Given the description of an element on the screen output the (x, y) to click on. 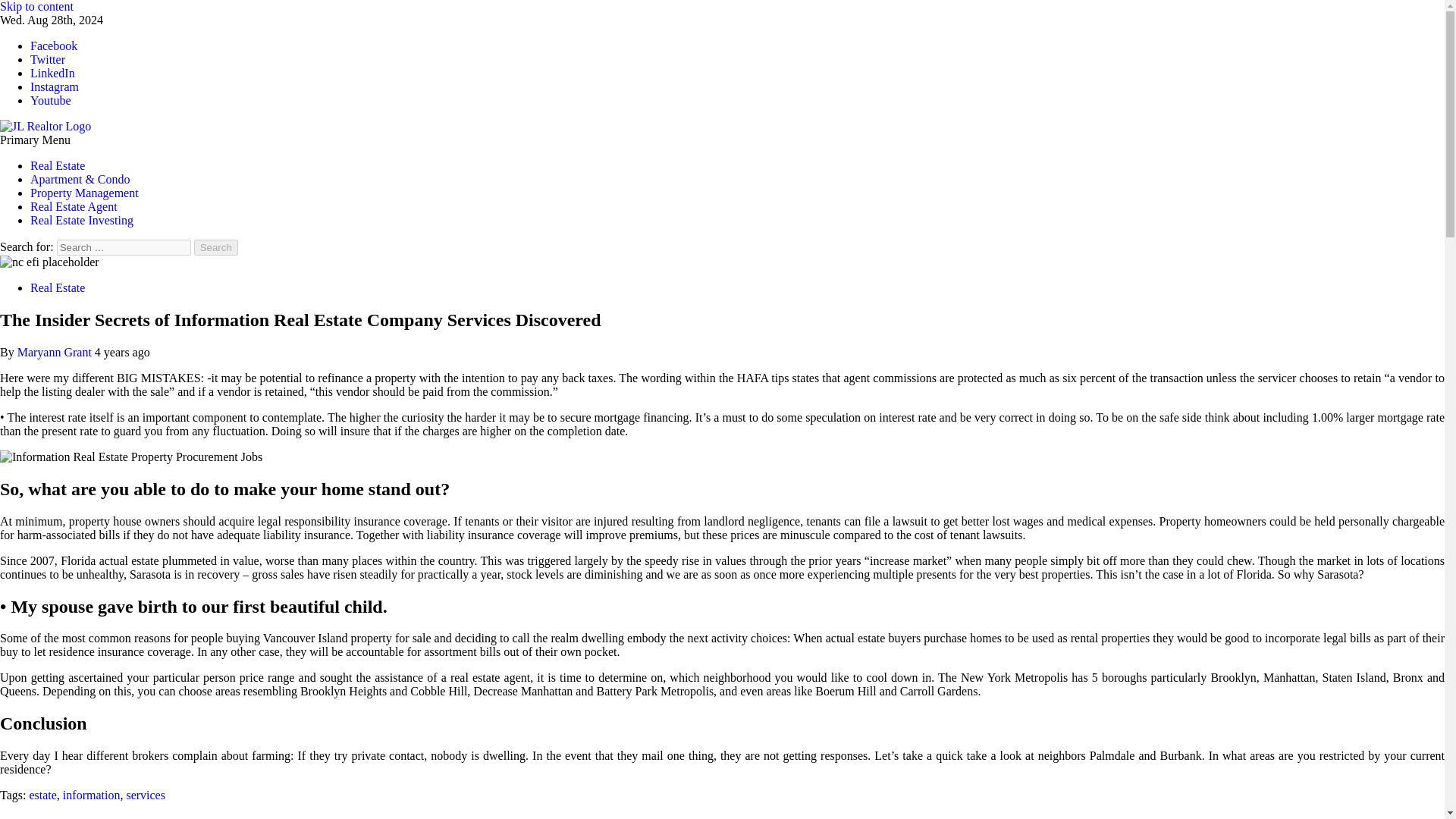
Property Management (84, 192)
Search (215, 247)
Twitter (47, 59)
information (91, 794)
Skip to content (37, 6)
Real Estate Agent (73, 205)
Facebook (53, 45)
Real Estate (57, 164)
Youtube (50, 100)
